Given the description of an element on the screen output the (x, y) to click on. 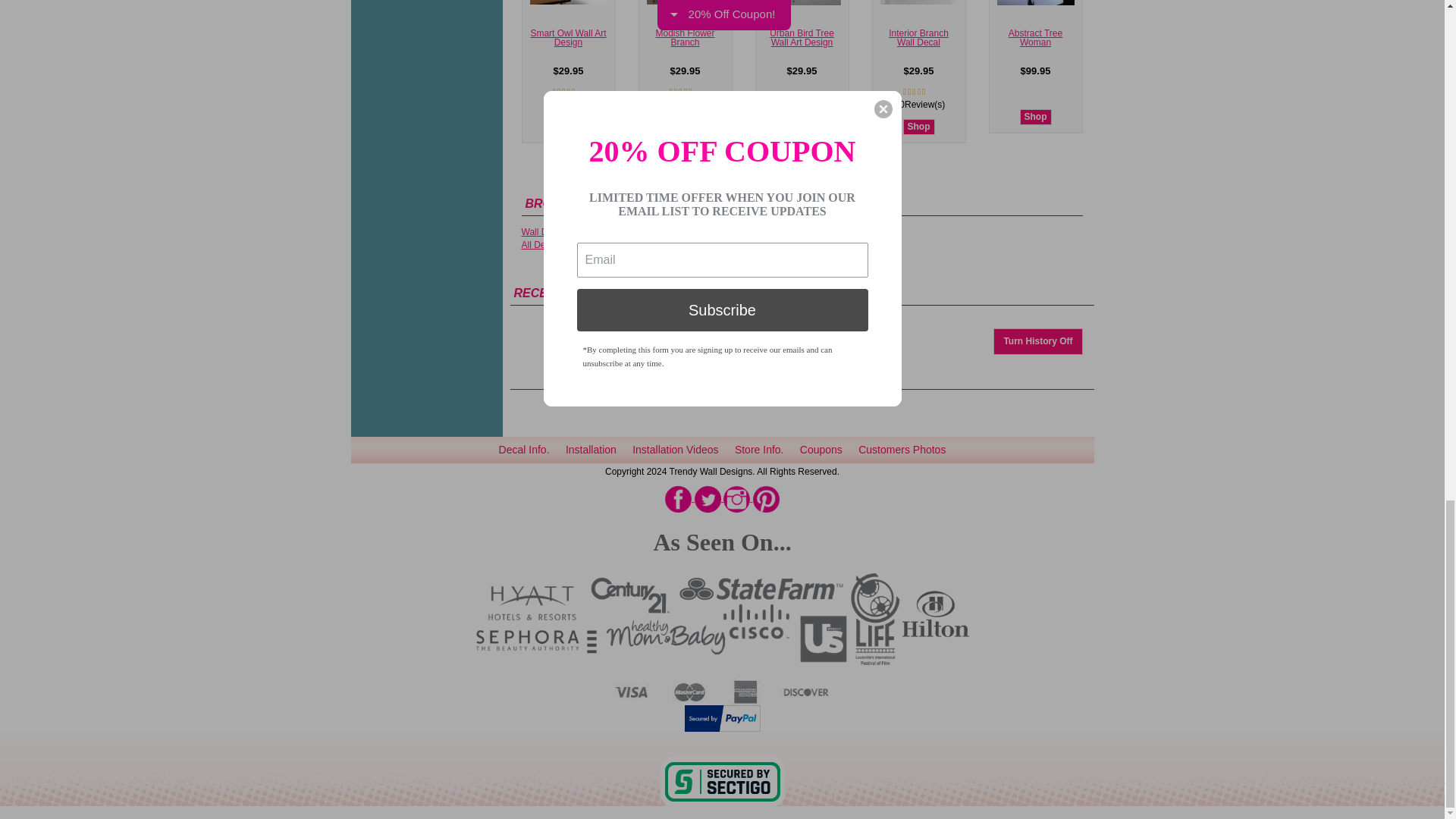
How PayPal Works (722, 716)
